Given the description of an element on the screen output the (x, y) to click on. 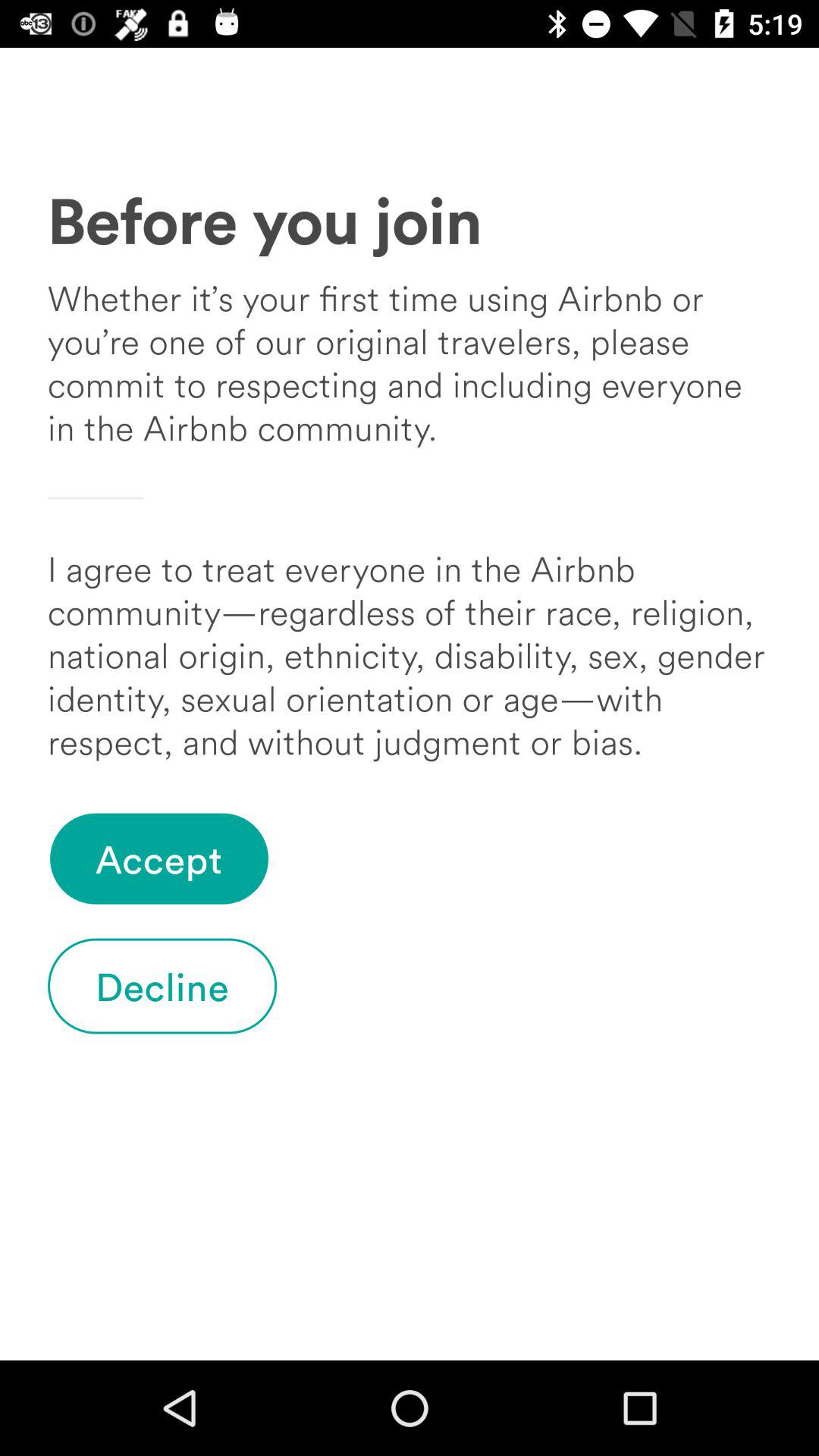
choose the item above the decline icon (158, 858)
